Given the description of an element on the screen output the (x, y) to click on. 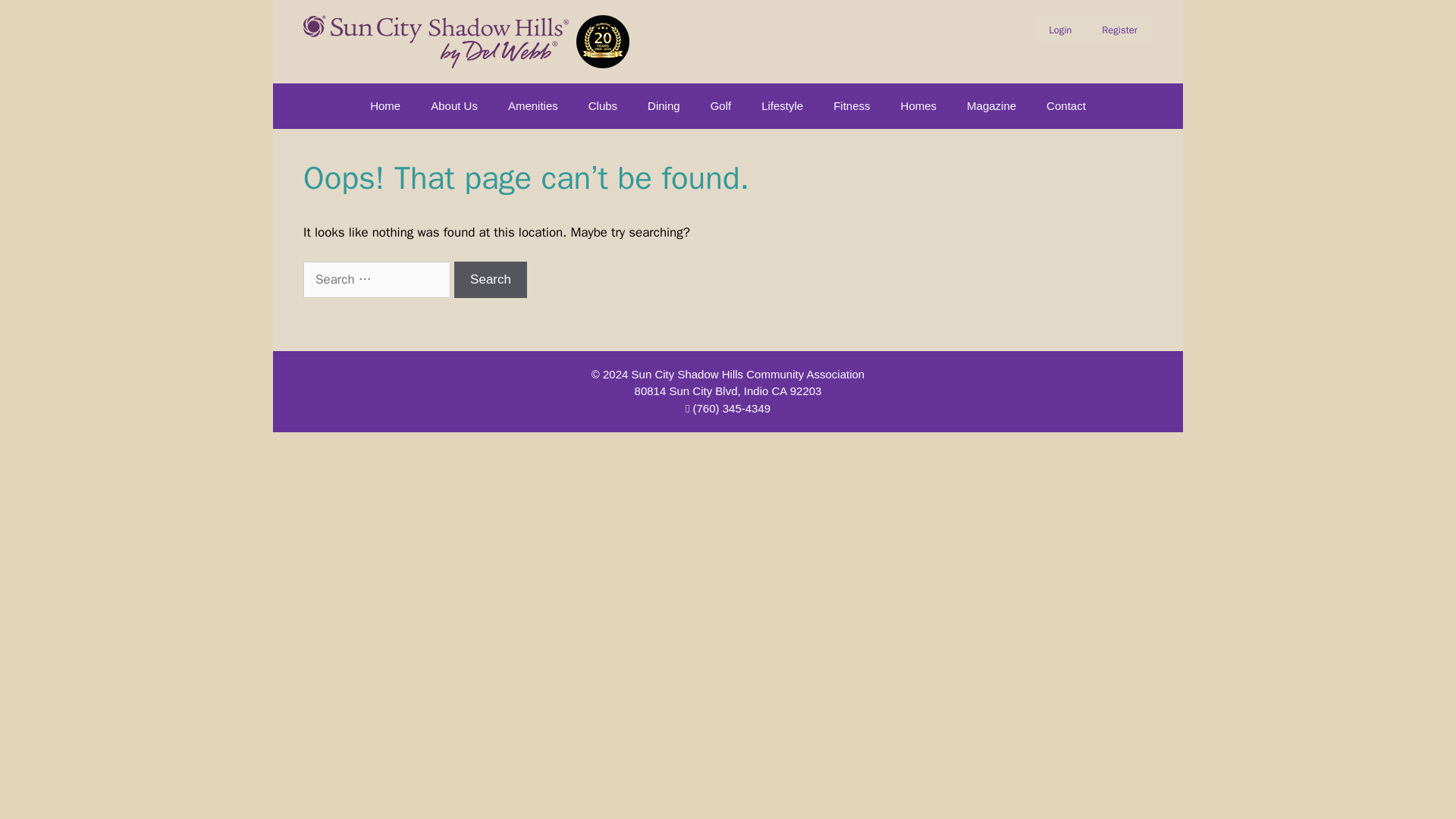
Homes (918, 105)
Contact (1065, 105)
Search (490, 279)
Search (490, 279)
Register (1119, 30)
Fitness (851, 105)
Login (1059, 30)
Golf (720, 105)
Lifestyle (781, 105)
Clubs (602, 105)
Magazine (991, 105)
Dining (663, 105)
Search (490, 279)
Amenities (533, 105)
Search for: (375, 279)
